Given the description of an element on the screen output the (x, y) to click on. 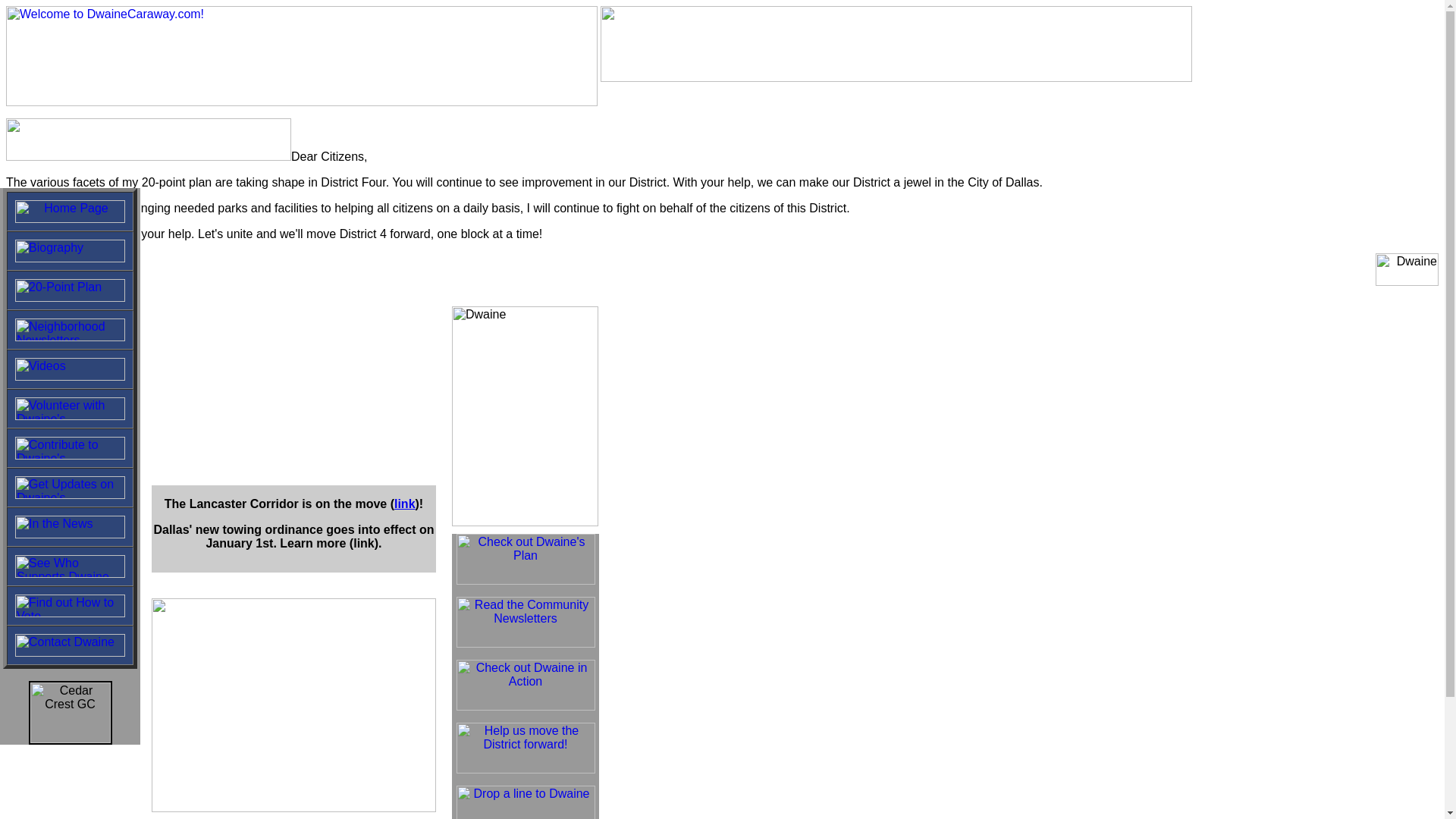
link (404, 503)
